Given the description of an element on the screen output the (x, y) to click on. 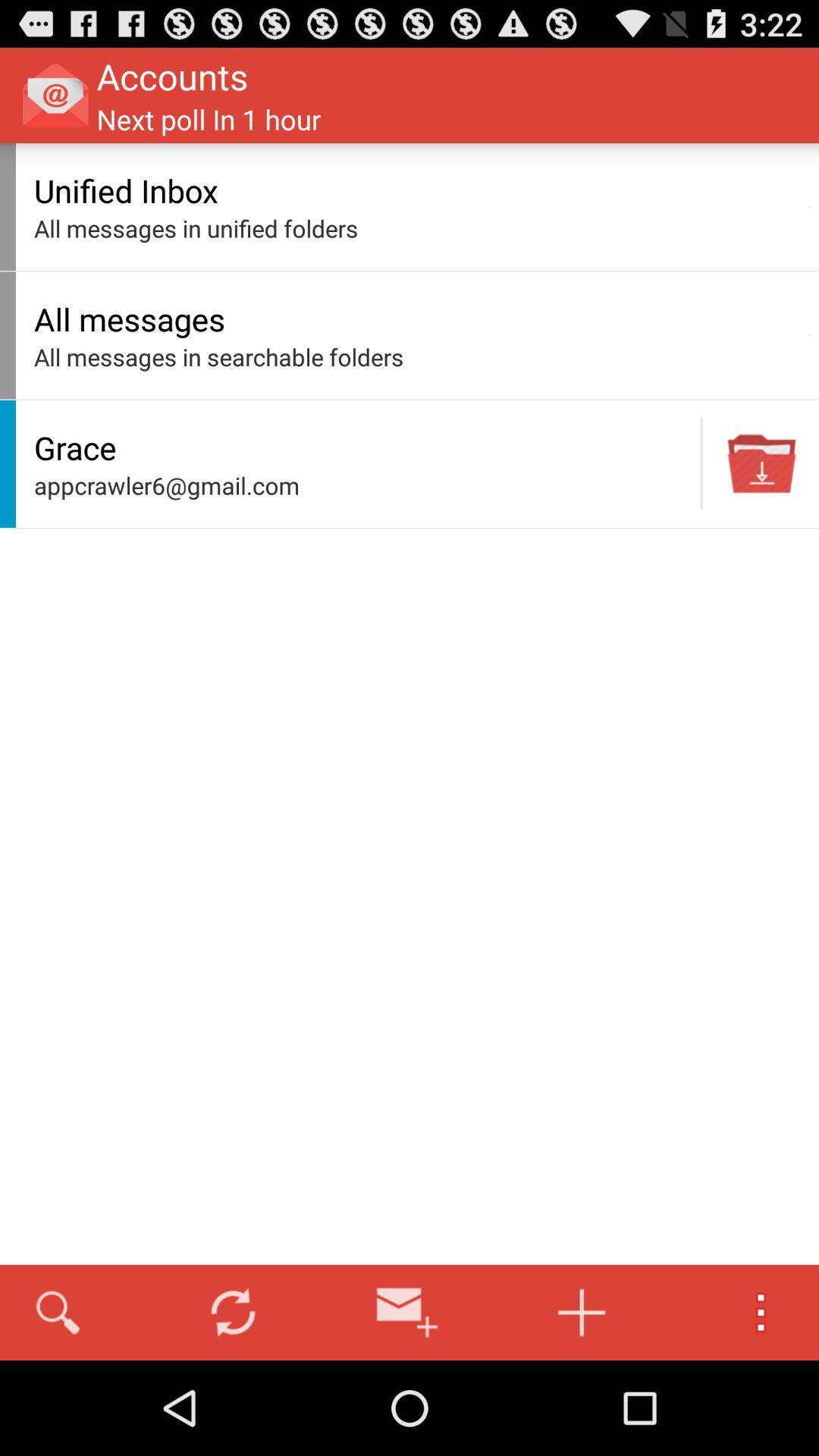
choose the icon below the grace item (363, 485)
